Given the description of an element on the screen output the (x, y) to click on. 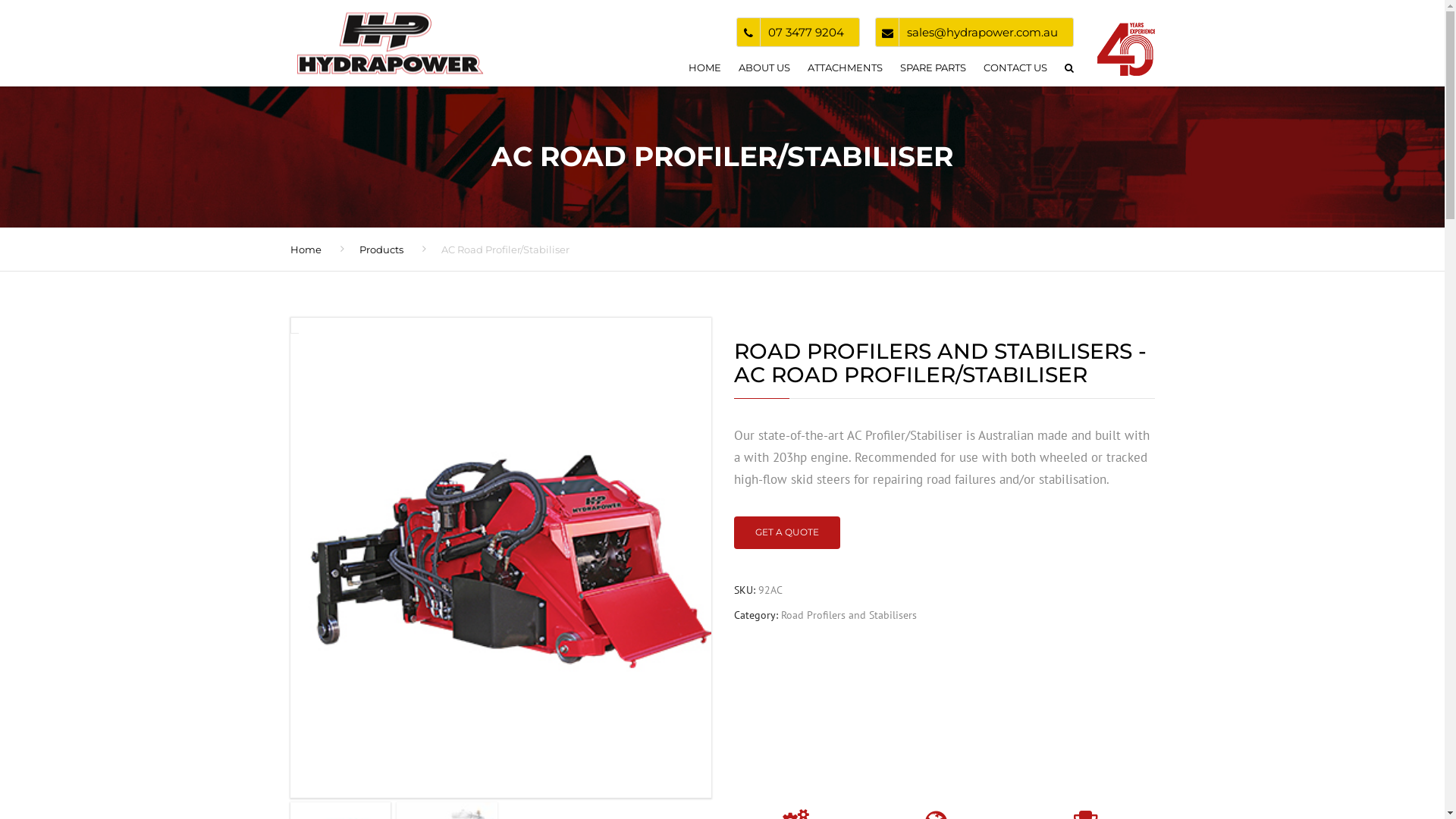
SPARE PARTS Element type: text (931, 71)
CONTACT US Element type: text (1014, 71)
07 3477 9204 Element type: text (805, 32)
Road Profilers and Stabilisers Element type: text (848, 614)
GET A QUOTE Element type: text (787, 532)
ABOUT US Element type: text (764, 71)
HOME Element type: text (704, 71)
Mini Loader Scraper Element type: hover (508, 565)
ATTACHMENTS Element type: text (844, 71)
Home Element type: text (304, 249)
Products Element type: text (381, 249)
sales@hydrapower.com.au Element type: text (981, 32)
